Given the description of an element on the screen output the (x, y) to click on. 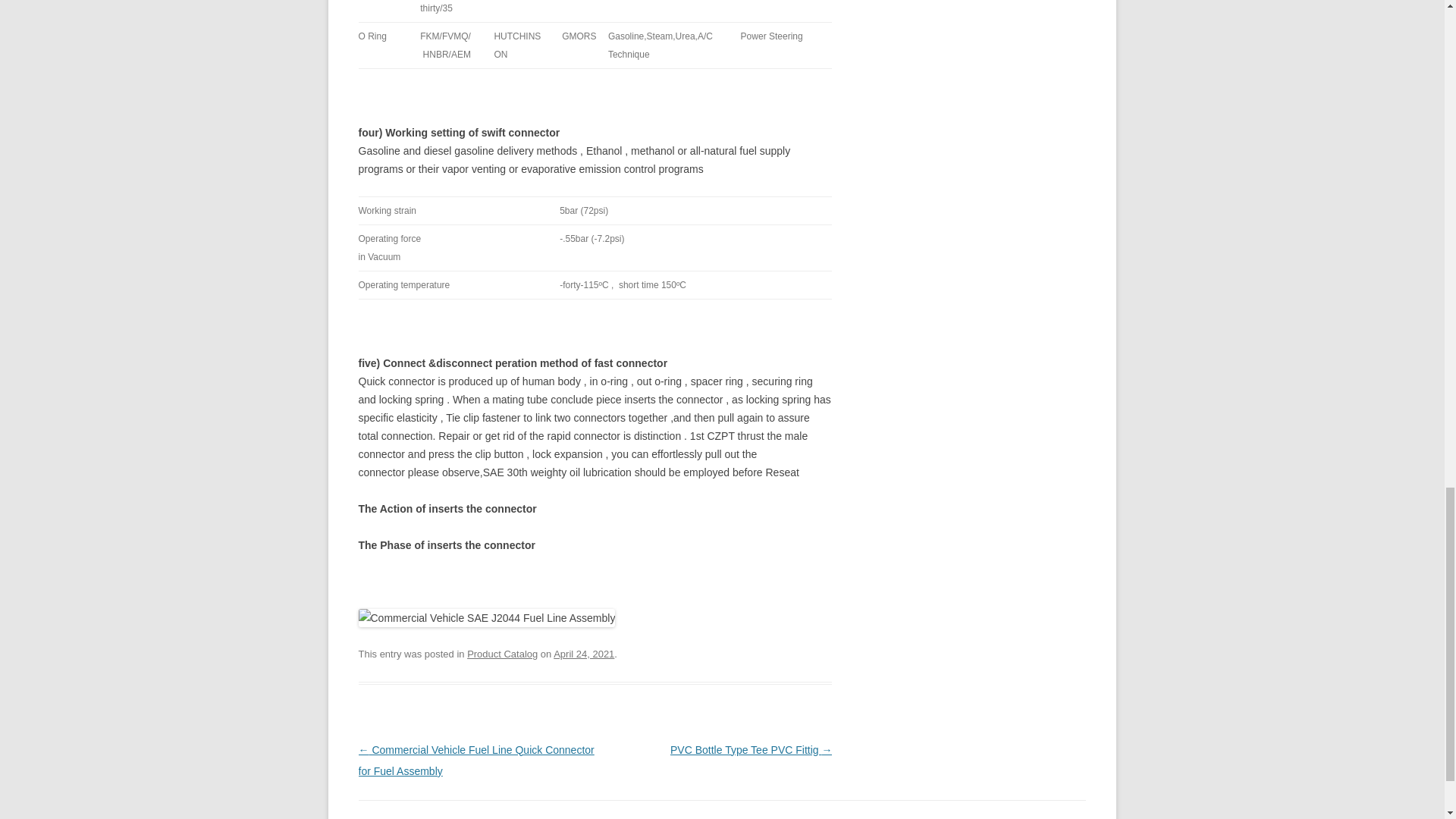
12:14 am (583, 654)
Product Catalog (502, 654)
April 24, 2021 (583, 654)
Commercial Vehicle SAE J2044 Fuel Line Assembly (486, 618)
